Given the description of an element on the screen output the (x, y) to click on. 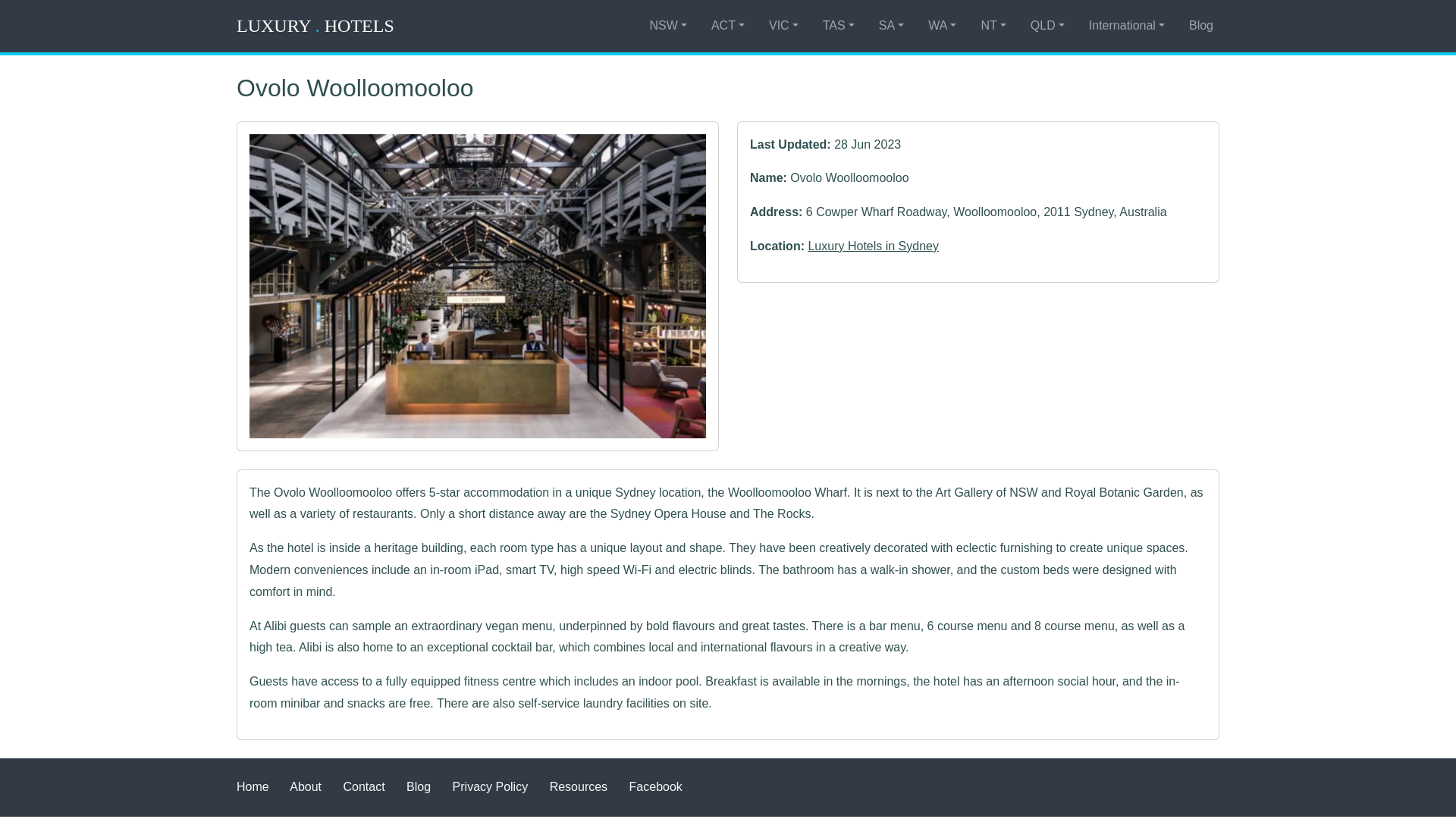
QLD (1047, 26)
TAS (838, 26)
LUXURY . HOTELS (314, 25)
ACT (727, 26)
NT (992, 26)
WA (941, 26)
SA (891, 26)
VIC (783, 26)
NSW (668, 26)
